Given the description of an element on the screen output the (x, y) to click on. 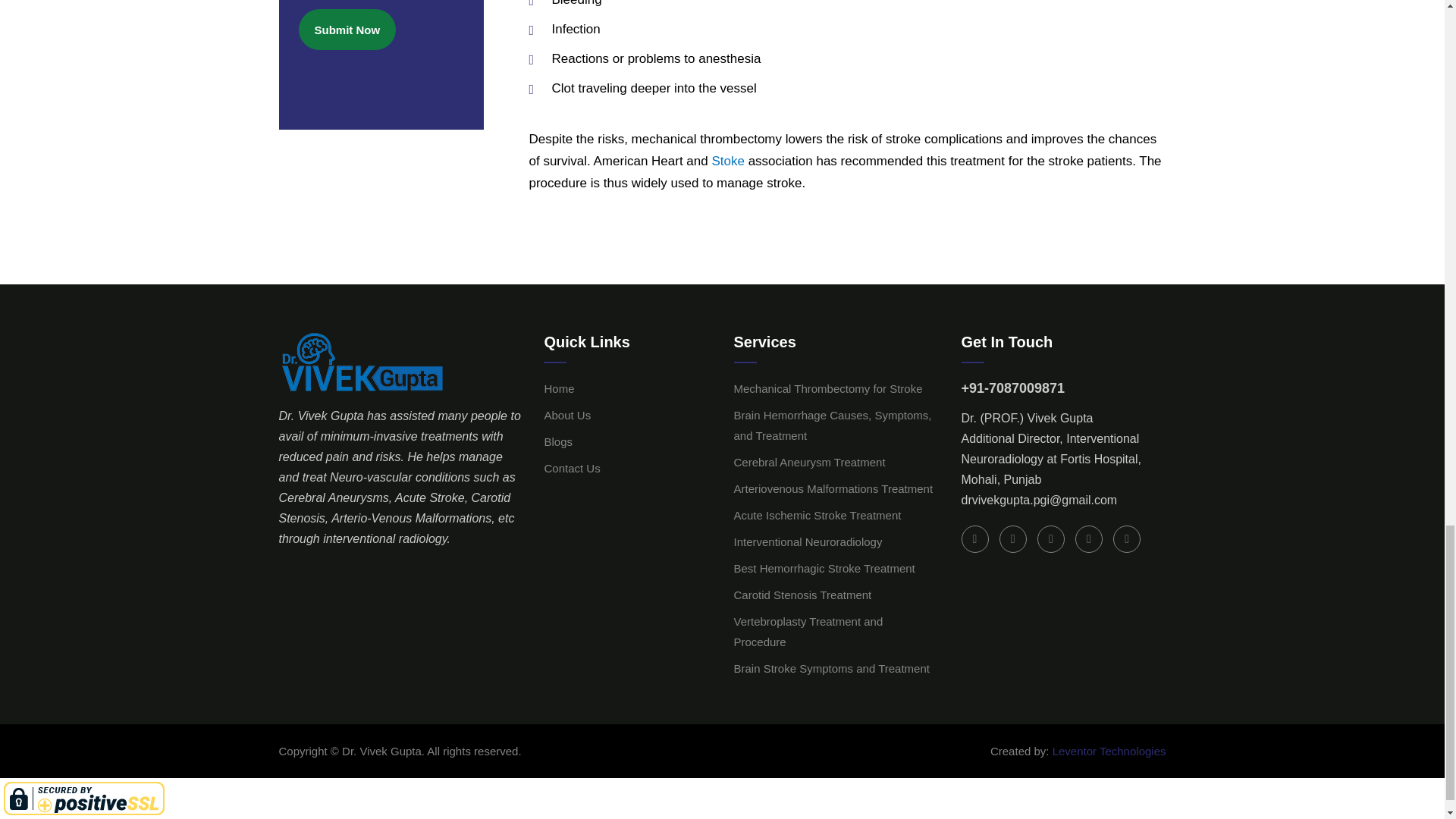
Submit Now (347, 29)
